Given the description of an element on the screen output the (x, y) to click on. 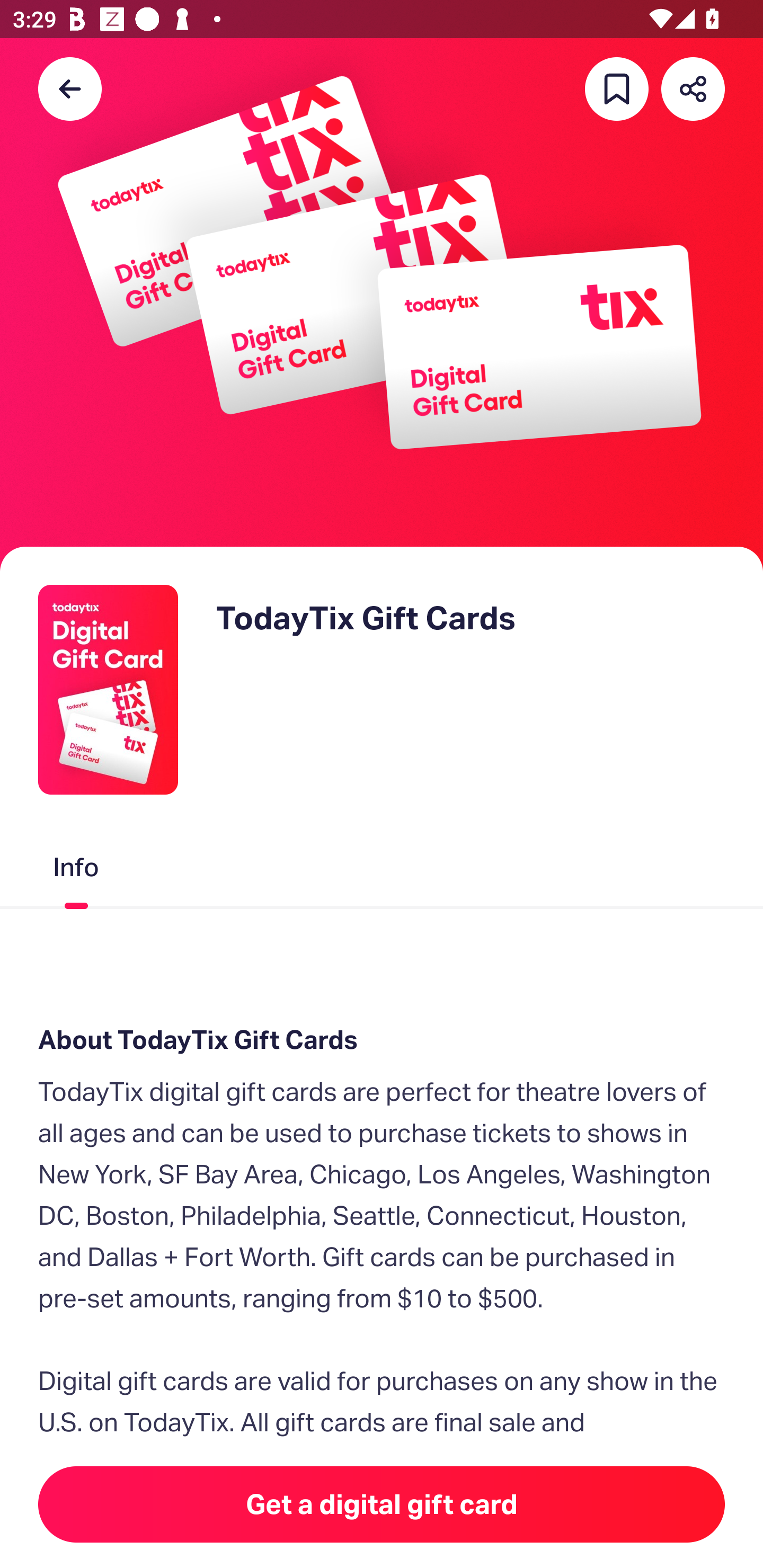
About TodayTix Gift Cards (381, 1039)
Get a digital gift card (381, 1504)
